Given the description of an element on the screen output the (x, y) to click on. 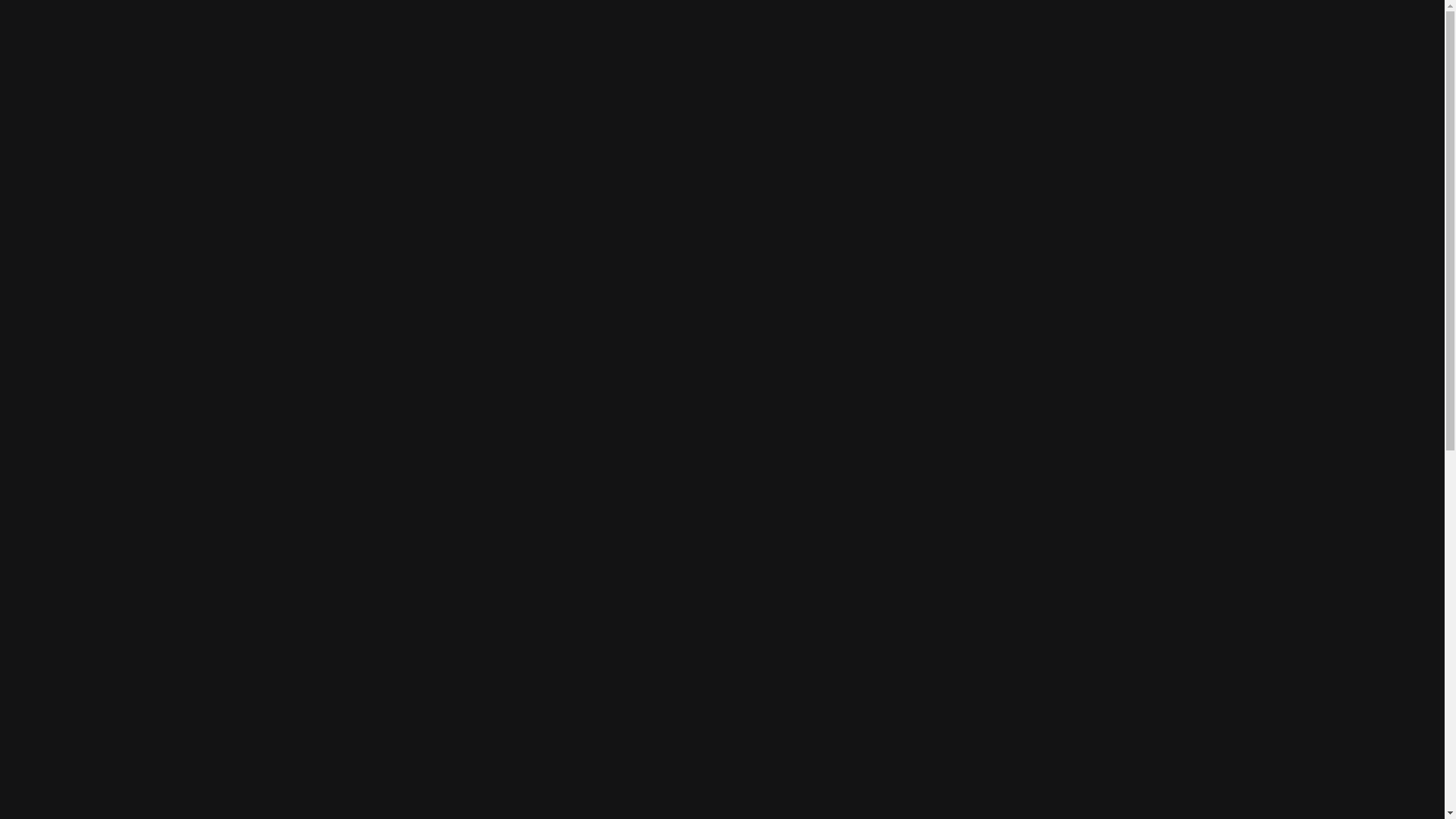
Dromana College Element type: text (1123, 480)
   Element type: text (715, 735)
Leaving School Element type: text (630, 52)
Advance College Element type: text (320, 536)
Contact Us Element type: text (938, 52)
Elisabeth Murdoch College Element type: text (320, 732)
Bayside Christian College Element type: text (641, 536)
Frankston High School Element type: text (641, 709)
Resources & Wellbeing Element type: text (752, 52)
Balcombe Grammar Element type: text (481, 545)
John Paul College Element type: text (801, 720)
McClelland College Element type: text (962, 720)
David Scott school Element type: text (962, 530)
Education Element type: text (447, 52)
Employment Element type: text (532, 52)
Carrum Downs Secondary College Element type: text (802, 514)
Home Element type: text (378, 52)
Monterey Secondary College Element type: text (1123, 676)
Flinders Christian Community College Element type: text (481, 731)
About Us Element type: text (859, 52)
